Given the description of an element on the screen output the (x, y) to click on. 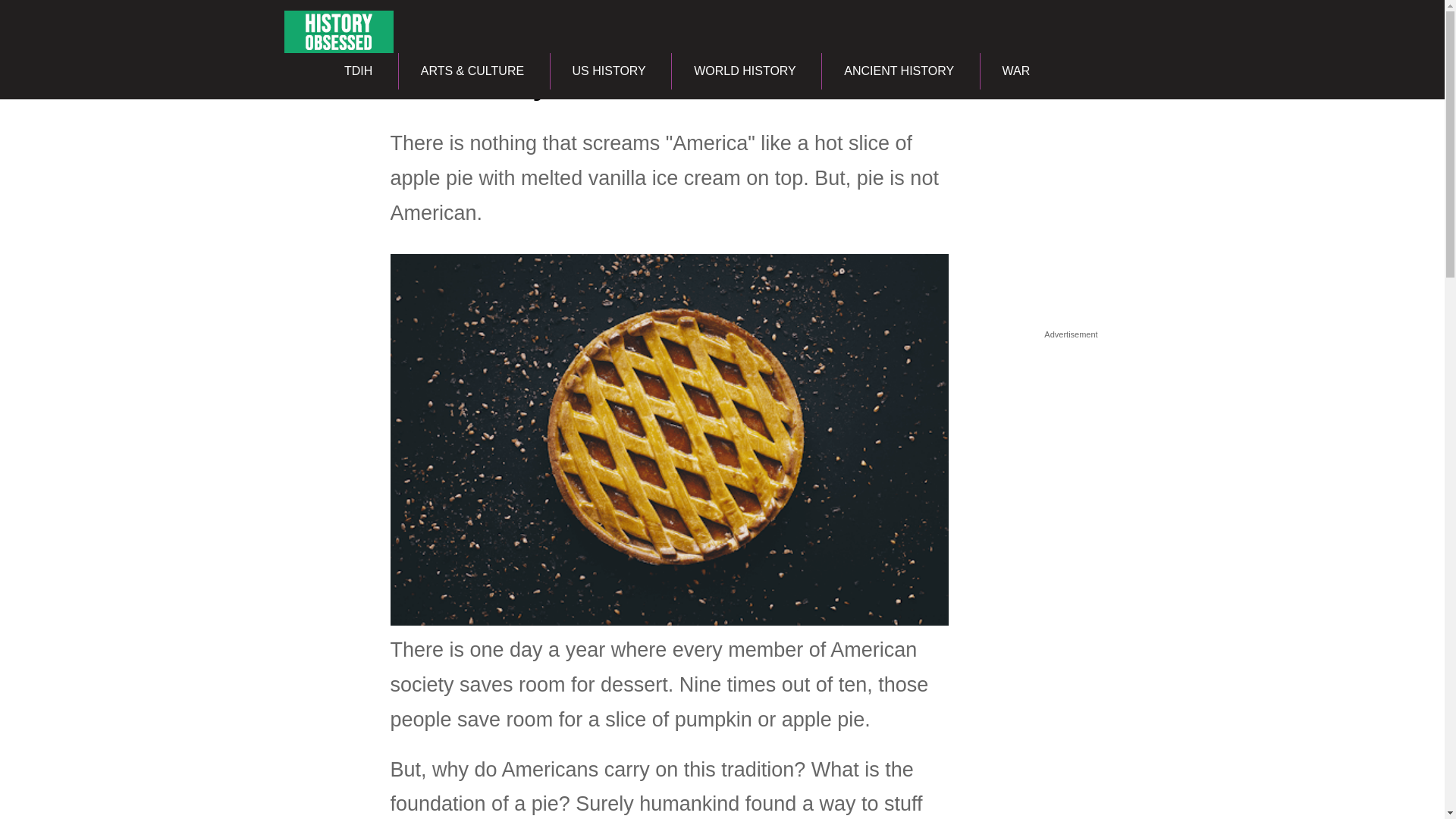
TDIH (357, 71)
US HISTORY (609, 71)
ANCIENT HISTORY (898, 71)
WORLD HISTORY (744, 71)
WAR (1015, 71)
